Given the description of an element on the screen output the (x, y) to click on. 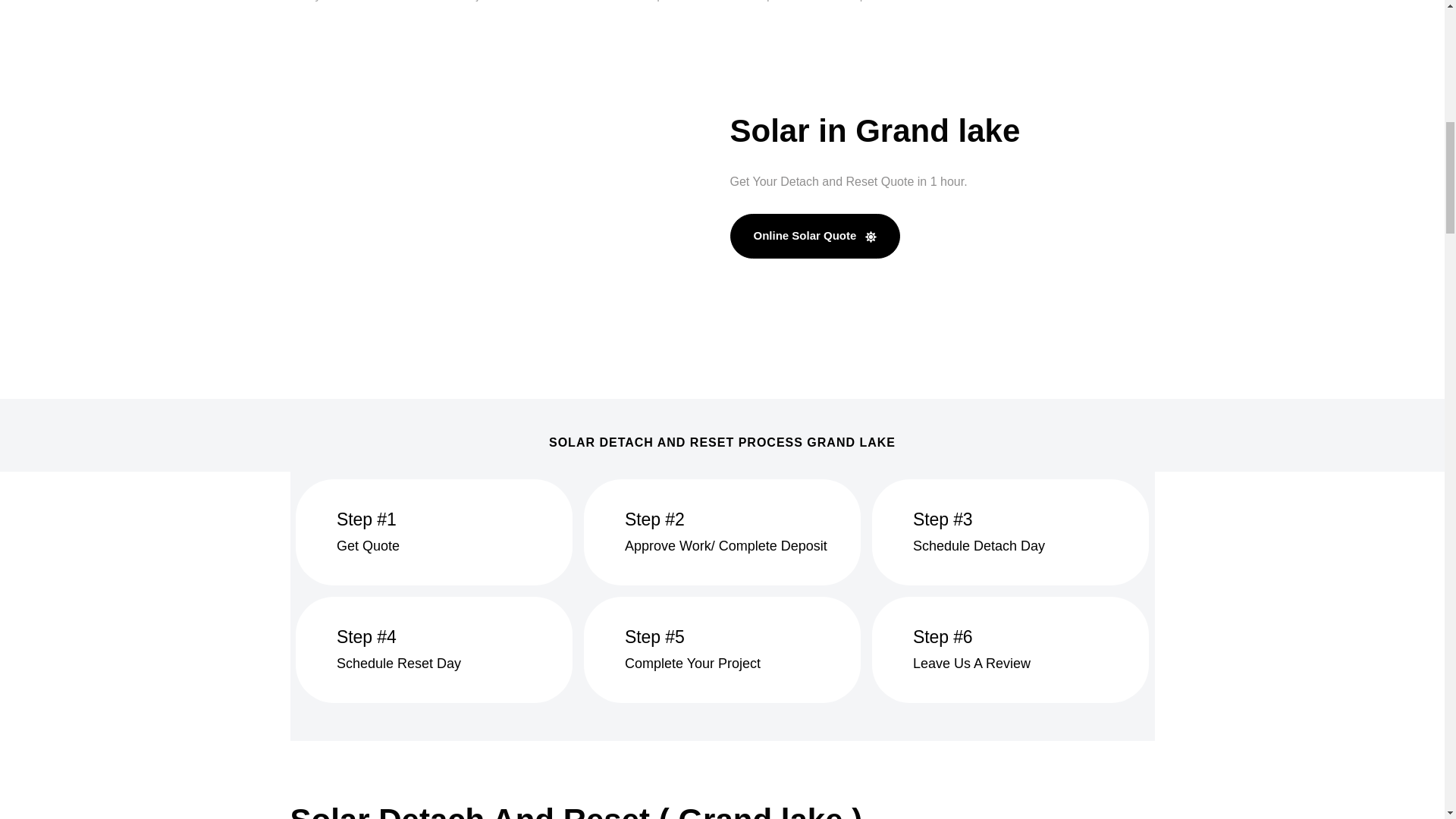
Online Solar Quote (814, 235)
